Given the description of an element on the screen output the (x, y) to click on. 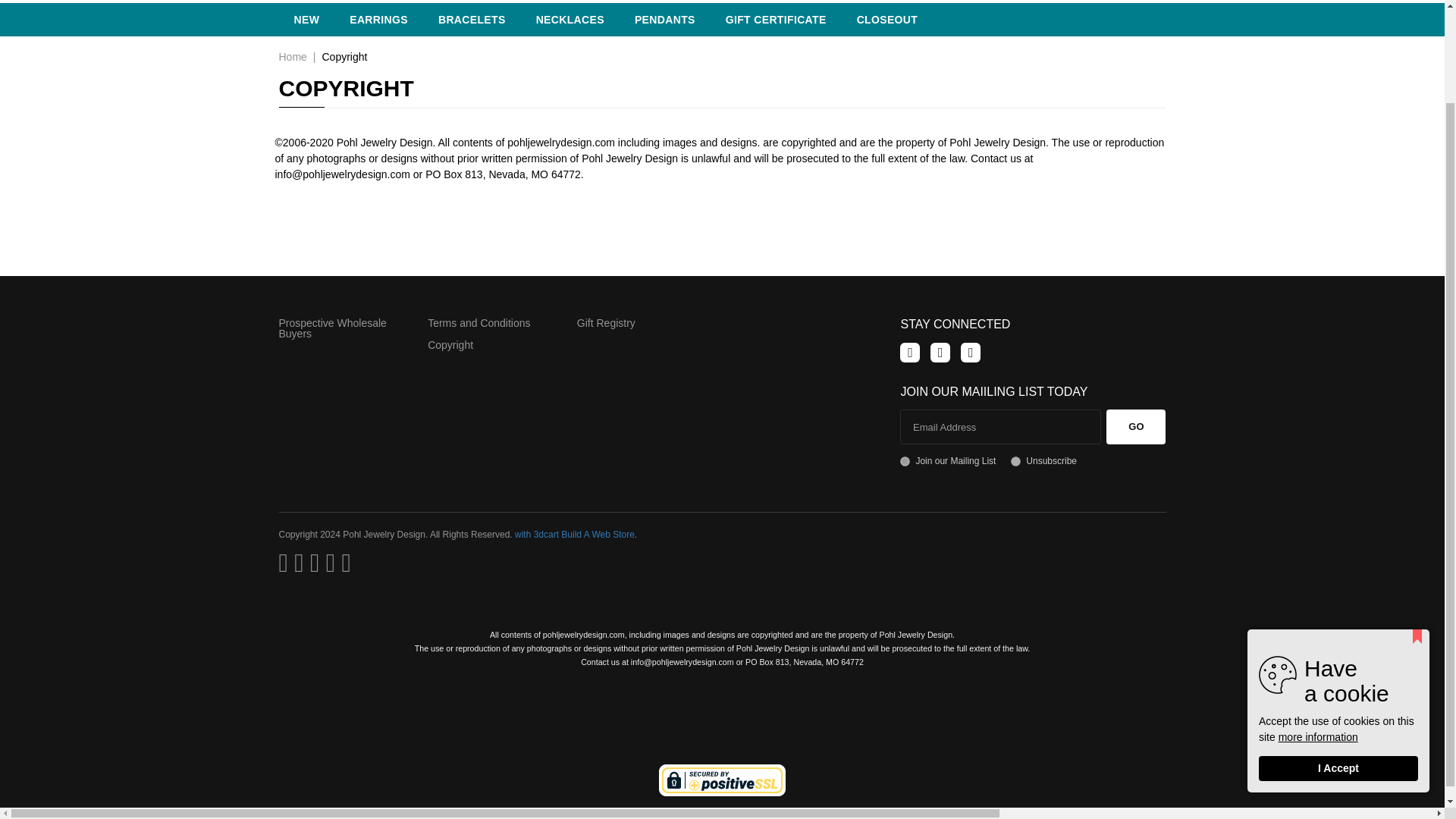
Copyright (343, 56)
with 3dcart Build A Web Store (574, 534)
EARRINGS (378, 19)
PENDANTS (665, 19)
Follow Us on Instagram (969, 352)
Like Us on Facebook (909, 352)
BRACELETS (472, 19)
0 (1015, 461)
Gift Registry (605, 322)
NEW (306, 19)
Follow Us on Twitter (940, 352)
Home (293, 56)
1 (904, 461)
NECKLACES (570, 19)
Terms and Conditions (478, 322)
